Given the description of an element on the screen output the (x, y) to click on. 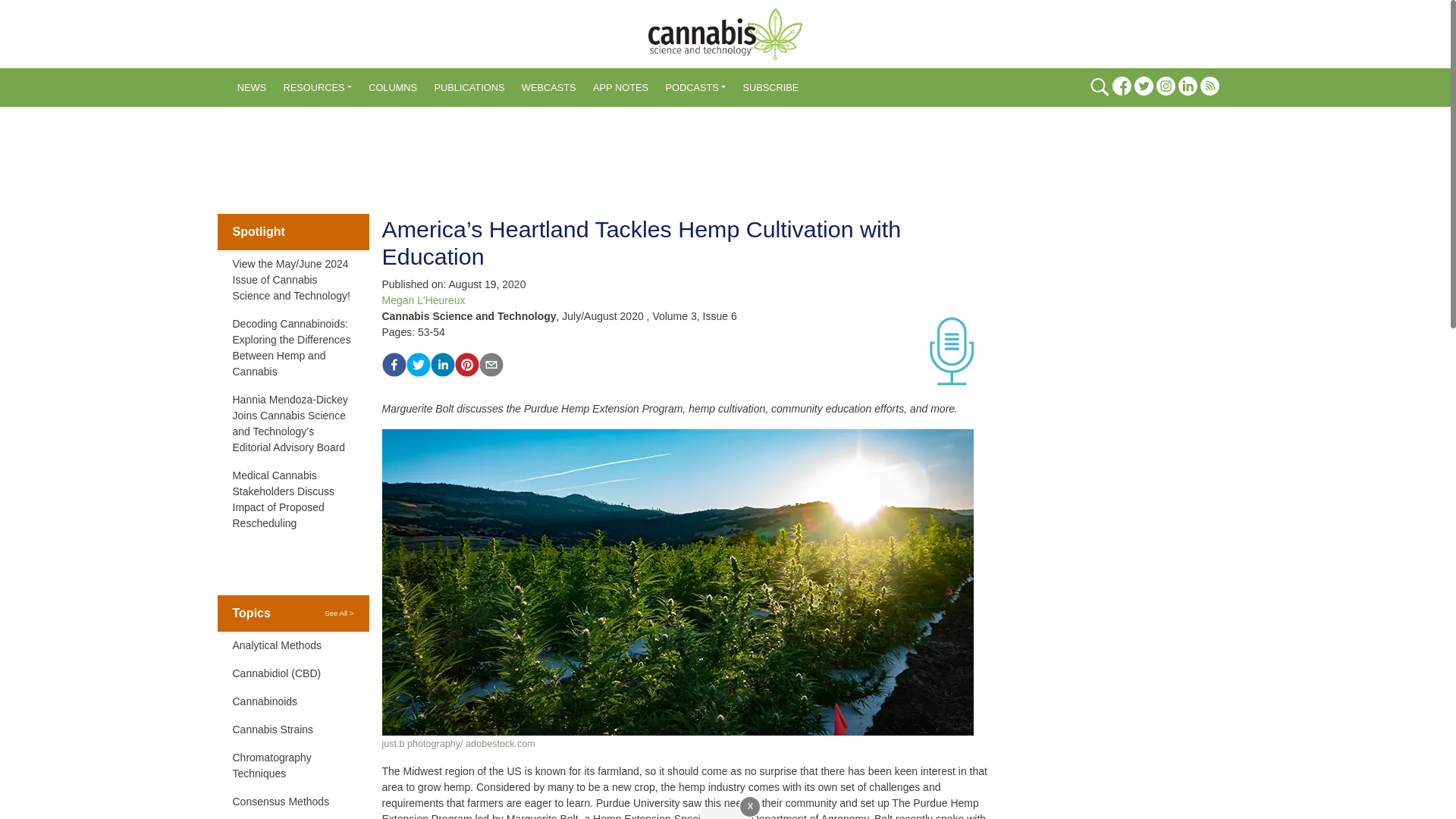
COLUMNS (392, 87)
PODCASTS (694, 87)
WEBCASTS (549, 87)
PUBLICATIONS (468, 87)
RESOURCES (317, 87)
APP NOTES (620, 87)
NEWS (251, 87)
